Given the description of an element on the screen output the (x, y) to click on. 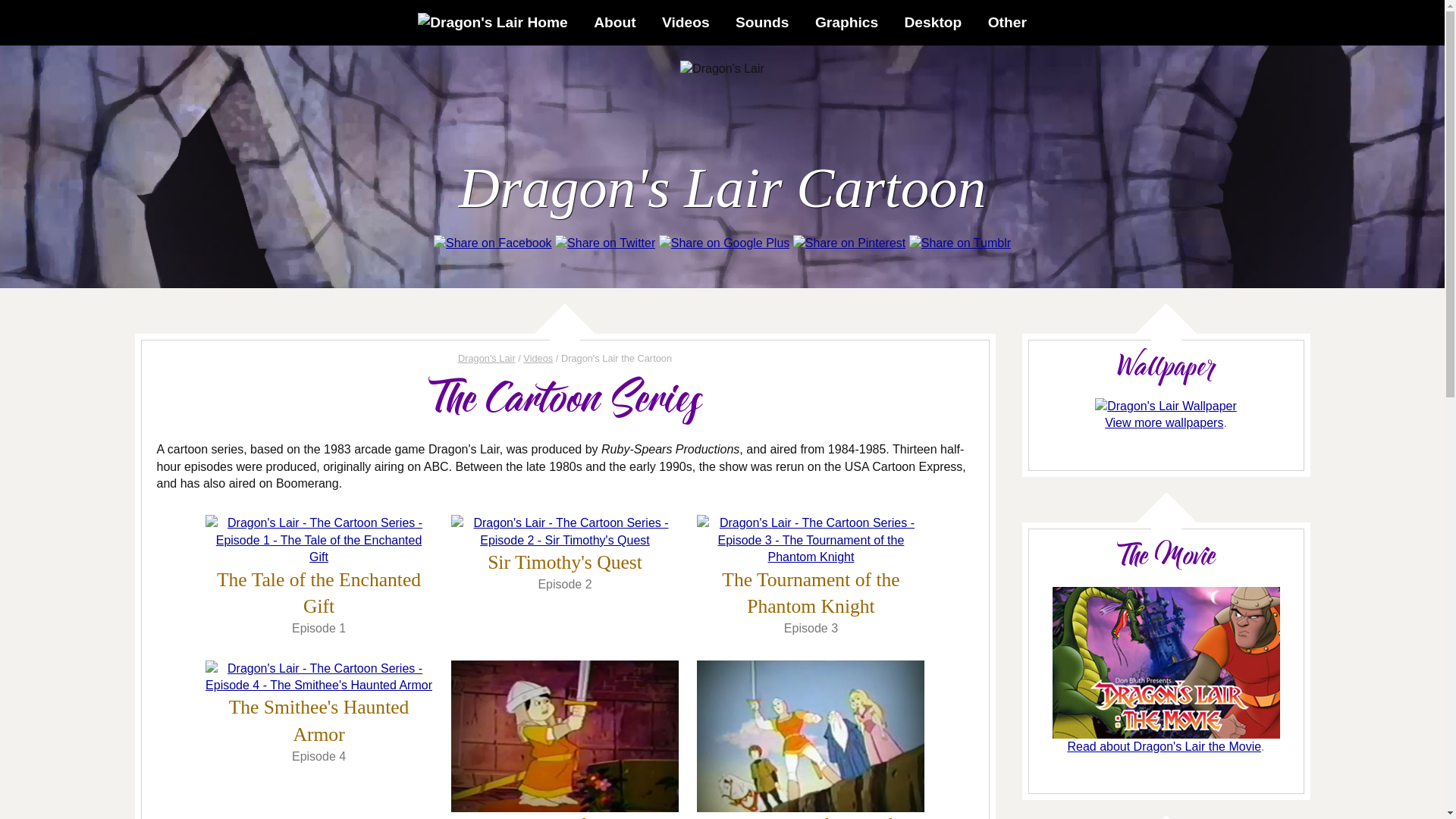
Graphics Element type: text (846, 23)
The Tournament of the Phantom Knight Element type: text (810, 593)
Sounds Element type: text (762, 23)
Videos Element type: text (537, 358)
The Smithee's Haunted Armor Element type: text (319, 720)
Videos Element type: text (685, 23)
Other Element type: text (1007, 23)
Read about Dragon's Lair the Movie Element type: text (1163, 746)
Dragon's Lair Element type: text (486, 358)
Desktop Element type: text (933, 23)
View more wallpapers Element type: text (1163, 422)
Sir Timothy's Quest Element type: text (564, 562)
The Tale of the Enchanted Gift Element type: text (318, 593)
About Element type: text (614, 23)
